Given the description of an element on the screen output the (x, y) to click on. 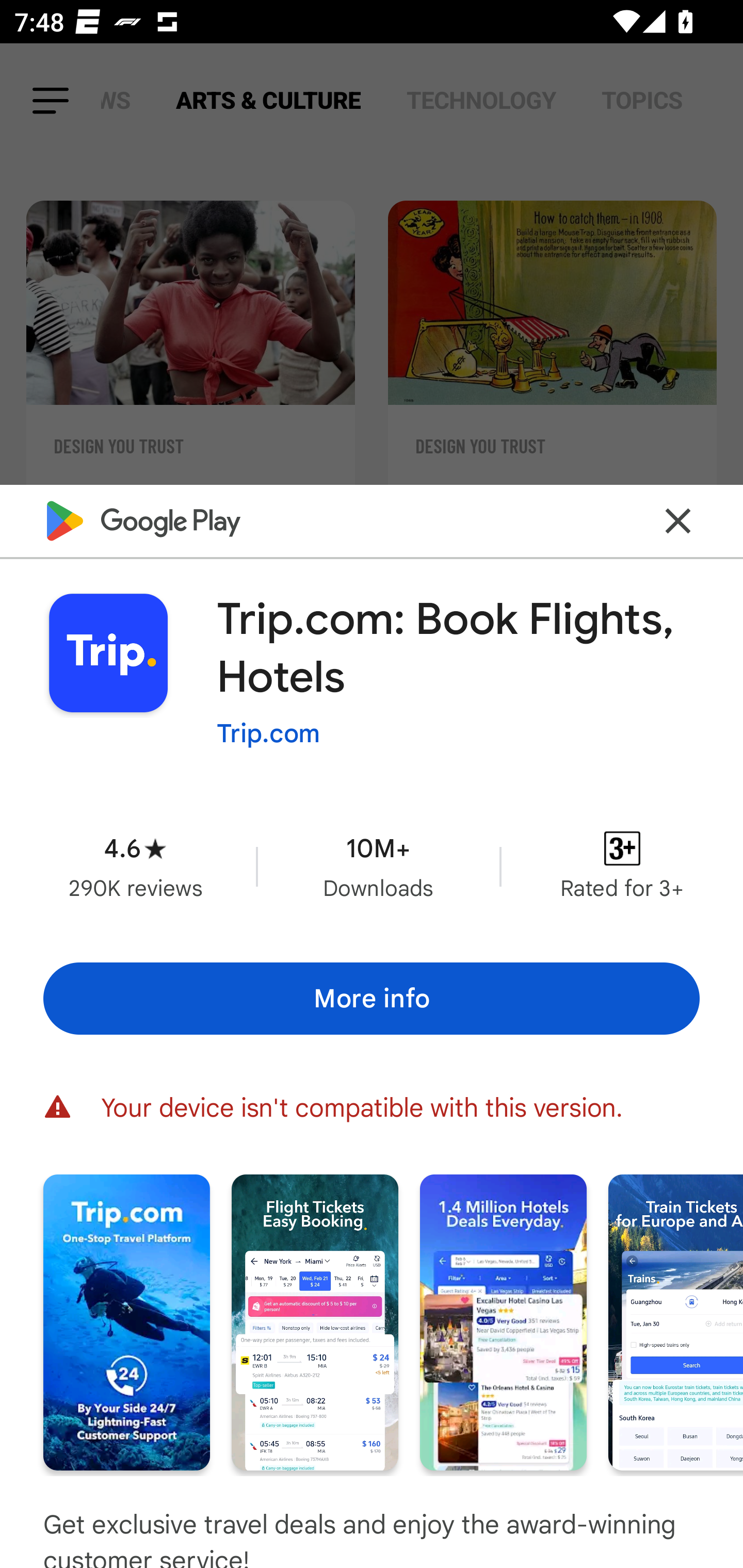
Close (677, 520)
Trip.com (268, 732)
More info (371, 998)
Screenshot "1" of "8" (126, 1322)
Screenshot "2" of "8" (314, 1322)
Screenshot "3" of "8" (502, 1322)
Screenshot "4" of "8" (675, 1322)
